Given the description of an element on the screen output the (x, y) to click on. 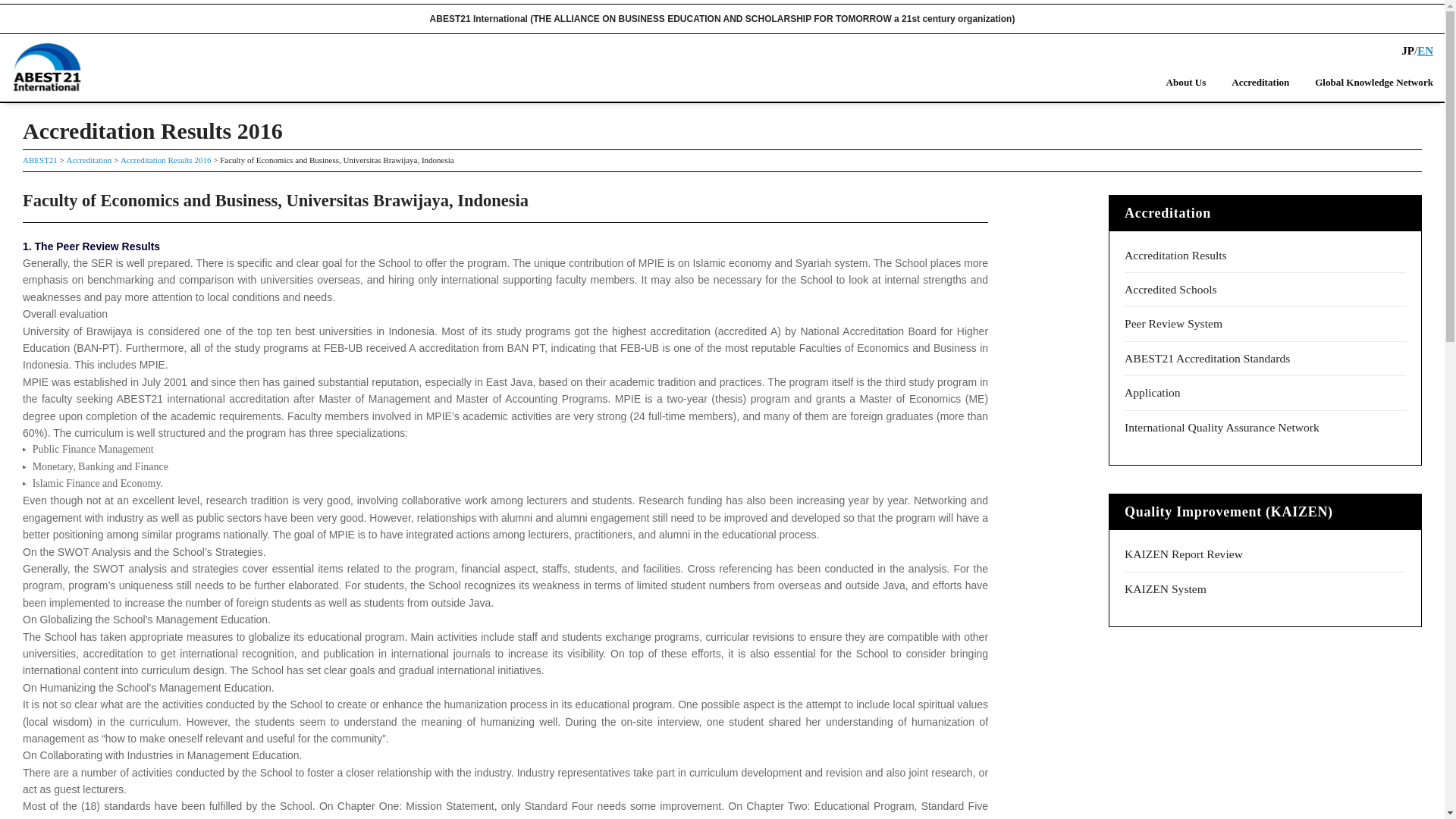
International Quality Assurance Network (1221, 427)
Go to Accreditation. (88, 159)
Accreditation Results 2016 (165, 159)
KAIZEN Report Review (1183, 553)
ABEST21 (40, 159)
About Us (1185, 82)
ABEST21 Accreditation Standards (1207, 358)
Application (1152, 391)
Accreditation (1260, 82)
Accredited Schools (1170, 288)
